Given the description of an element on the screen output the (x, y) to click on. 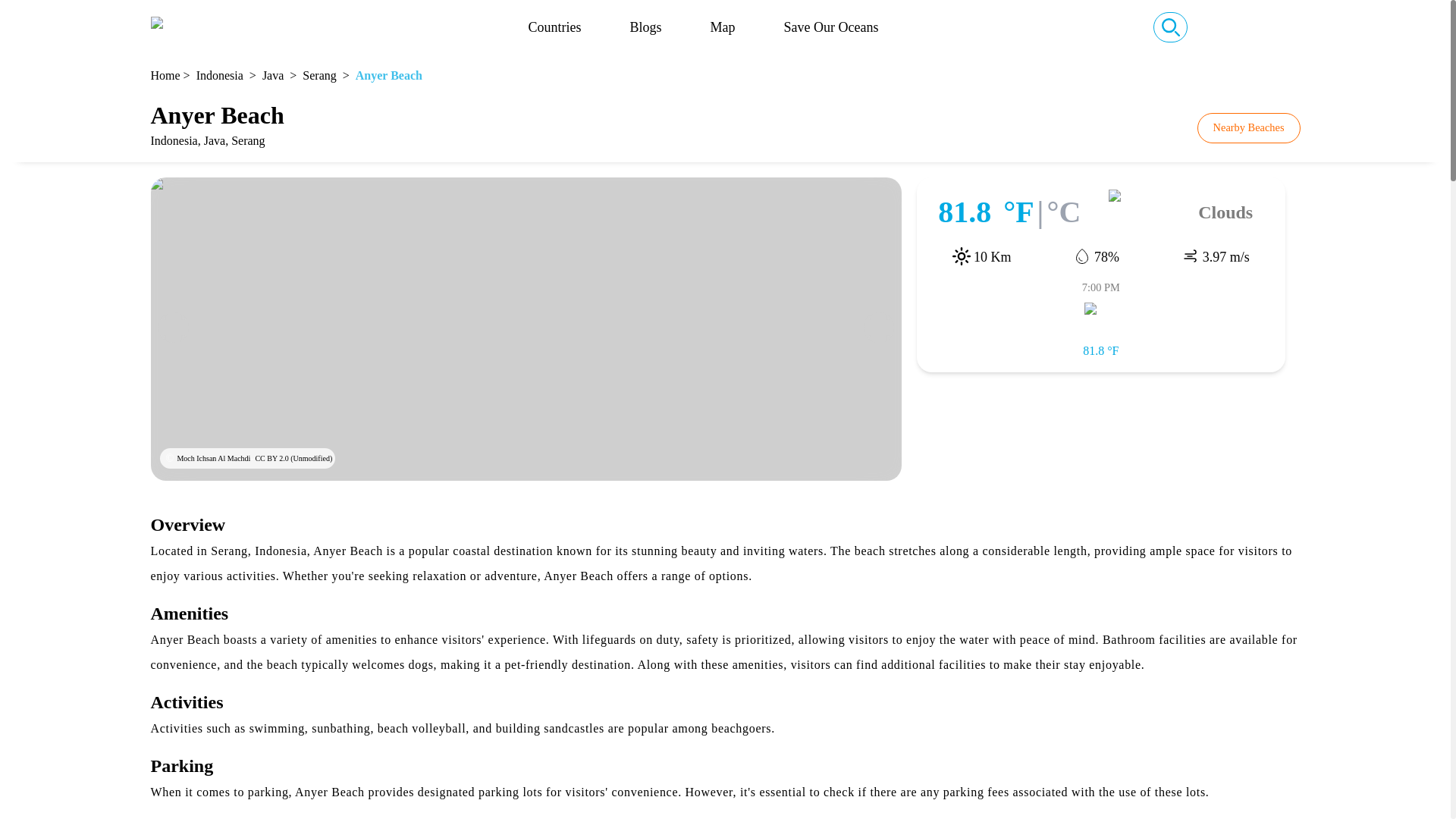
Serang (319, 75)
Save Our Oceans (831, 27)
Nearby Beaches (1248, 128)
Indonesia (219, 75)
Indonesia,  (176, 140)
Save Our Oceans (831, 27)
Countries (553, 27)
Home (164, 75)
Countries (553, 27)
